Given the description of an element on the screen output the (x, y) to click on. 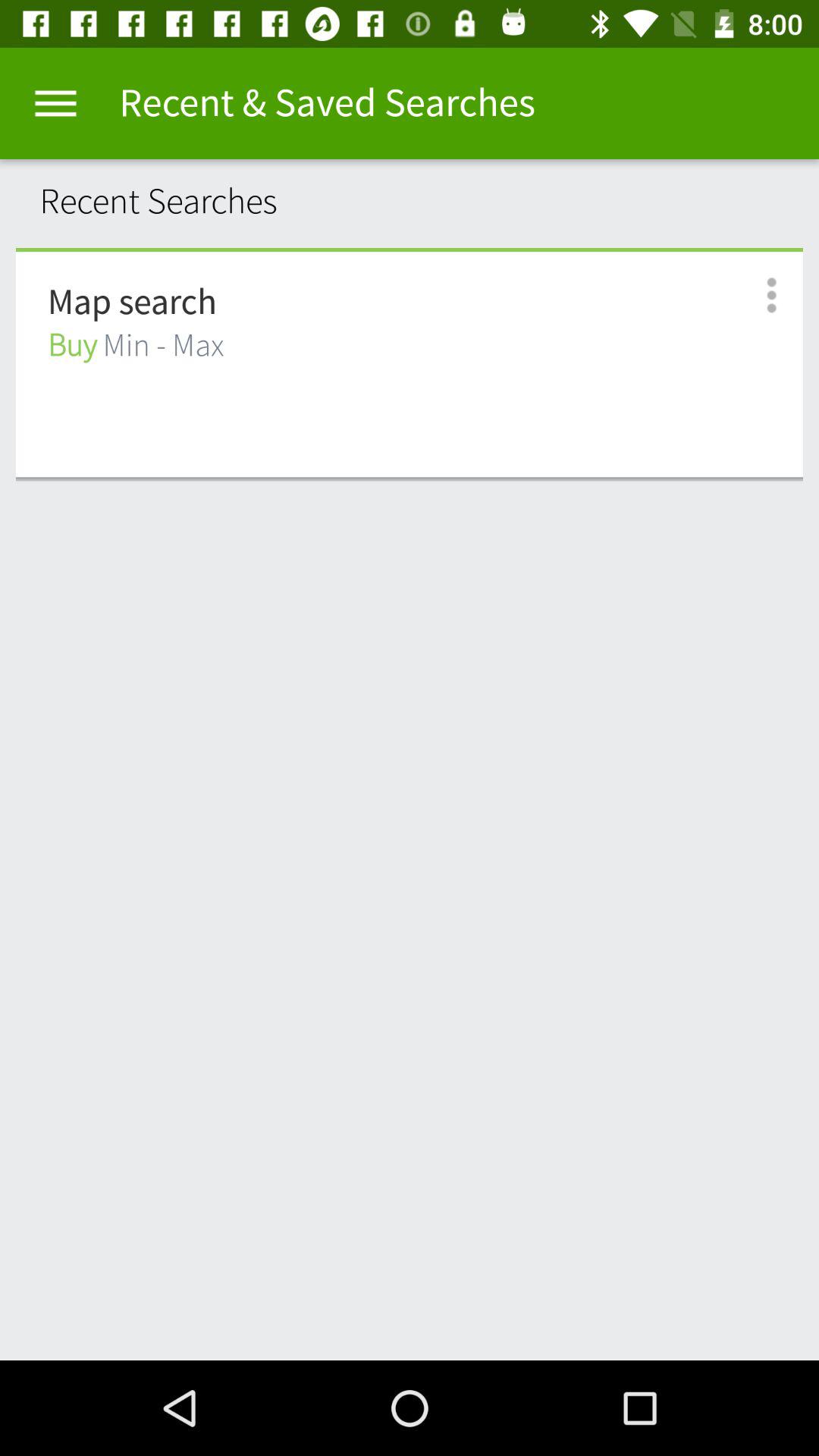
turn on the item above buy min - max icon (131, 302)
